Given the description of an element on the screen output the (x, y) to click on. 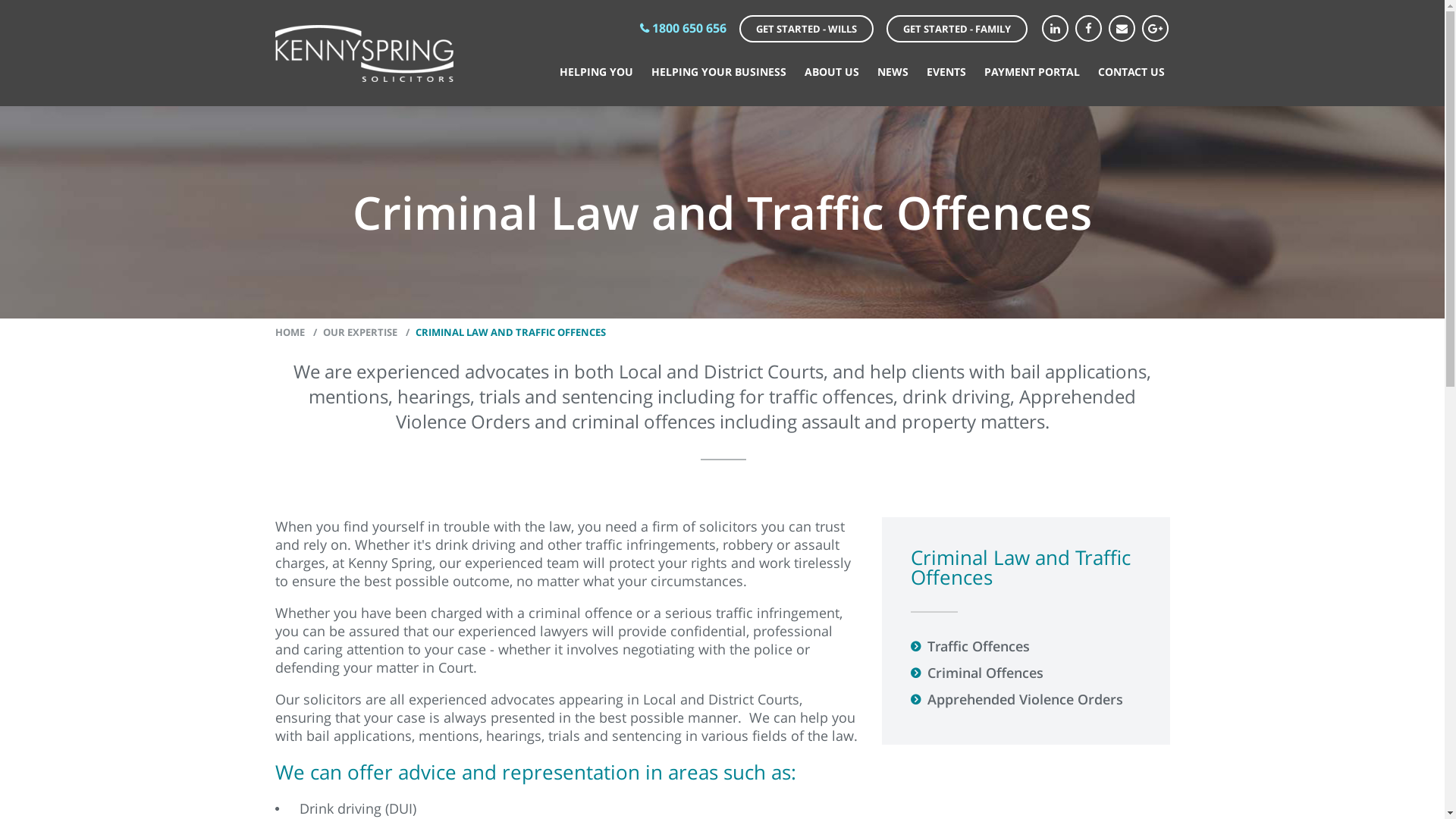
View Facebook Element type: text (1088, 28)
PAYMENT PORTAL Element type: text (1031, 71)
Apprehended Violence Orders Element type: text (1030, 699)
NEWS Element type: text (891, 71)
View Google Plus Element type: text (1155, 28)
GET STARTED - WILLS Element type: text (805, 28)
Send Email Element type: text (1121, 28)
OUR EXPERTISE Element type: text (351, 331)
Criminal Law and Traffic Offences Element type: text (1025, 564)
Criminal Offences Element type: text (1030, 672)
Kenny Spring Solicitors Element type: text (363, 53)
CRIMINAL LAW AND TRAFFIC OFFENCES Element type: text (502, 331)
Traffic Offences Element type: text (1030, 646)
GET STARTED - FAMILY Element type: text (955, 28)
View Linked In Element type: text (1054, 28)
HELPING YOU Element type: text (596, 71)
CONTACT US Element type: text (1130, 71)
ABOUT US Element type: text (830, 71)
EVENTS Element type: text (946, 71)
HOME Element type: text (289, 331)
HELPING YOUR BUSINESS Element type: text (717, 71)
